Given the description of an element on the screen output the (x, y) to click on. 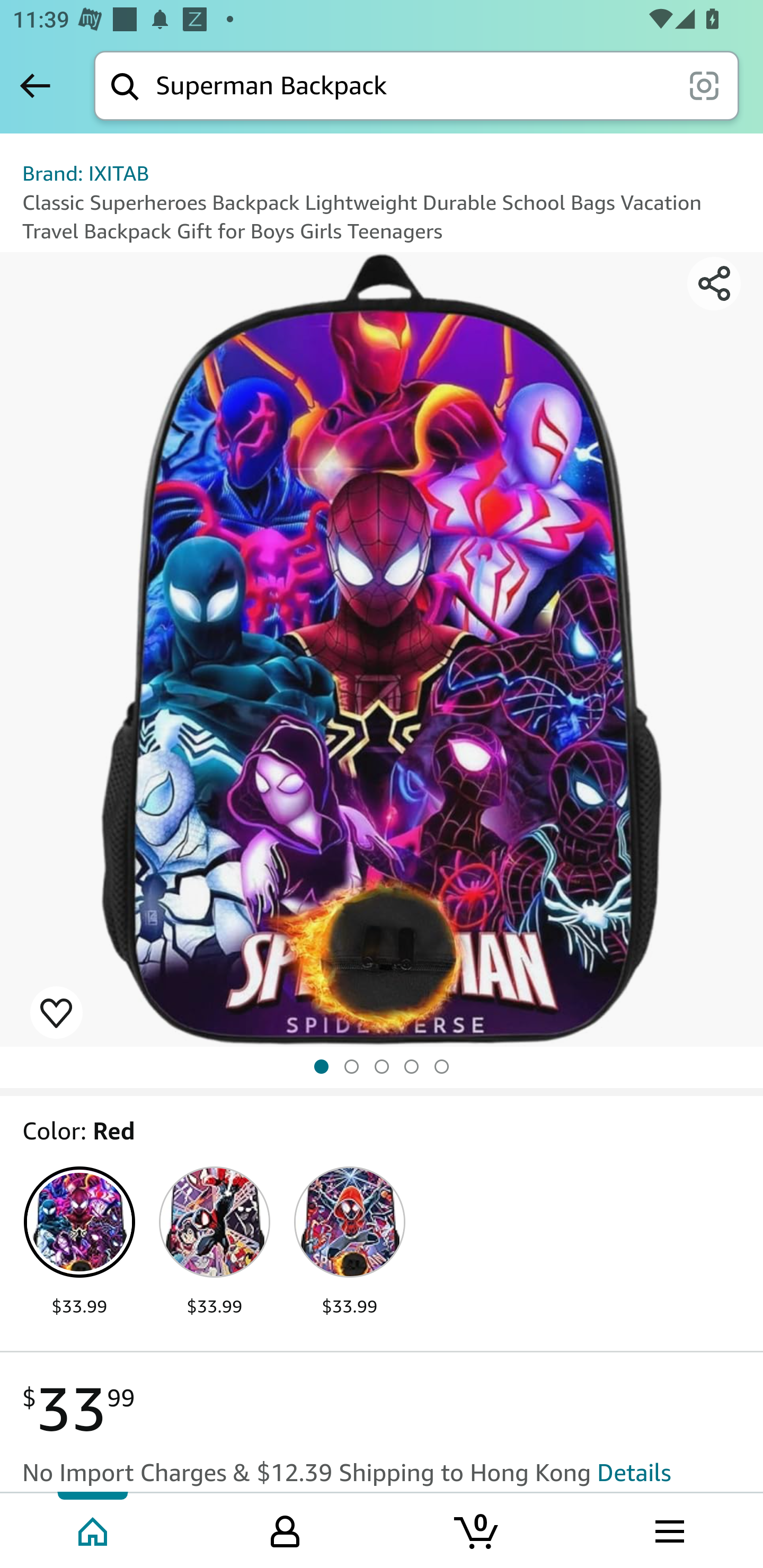
Back (35, 85)
Search Search Superman Backpack scan it (416, 85)
scan it (704, 85)
Brand: IXITAB (85, 172)
Heart to save an item to your default list (56, 1011)
Details (633, 1472)
Home Tab 1 of 4 (94, 1529)
Your Amazon.com Tab 2 of 4 (285, 1529)
Cart 0 item Tab 3 of 4 0 (477, 1529)
Browse menu Tab 4 of 4 (668, 1529)
